Given the description of an element on the screen output the (x, y) to click on. 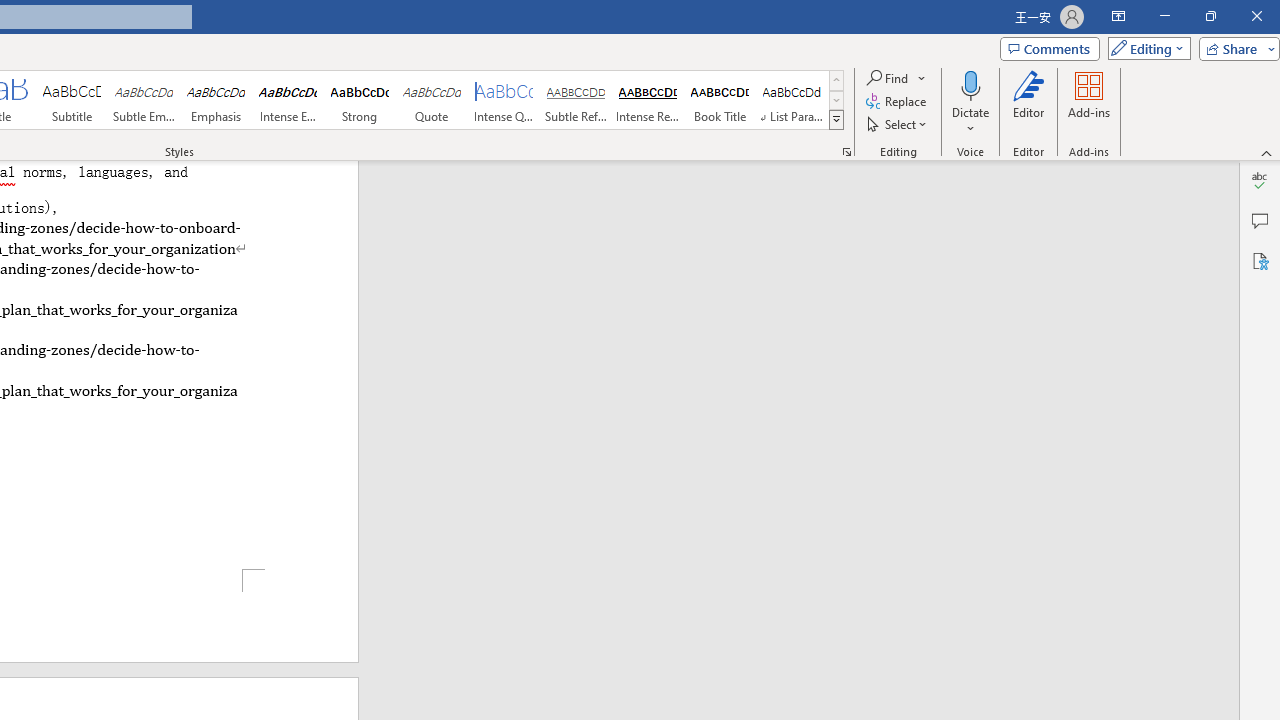
Subtle Emphasis (143, 100)
